Given the description of an element on the screen output the (x, y) to click on. 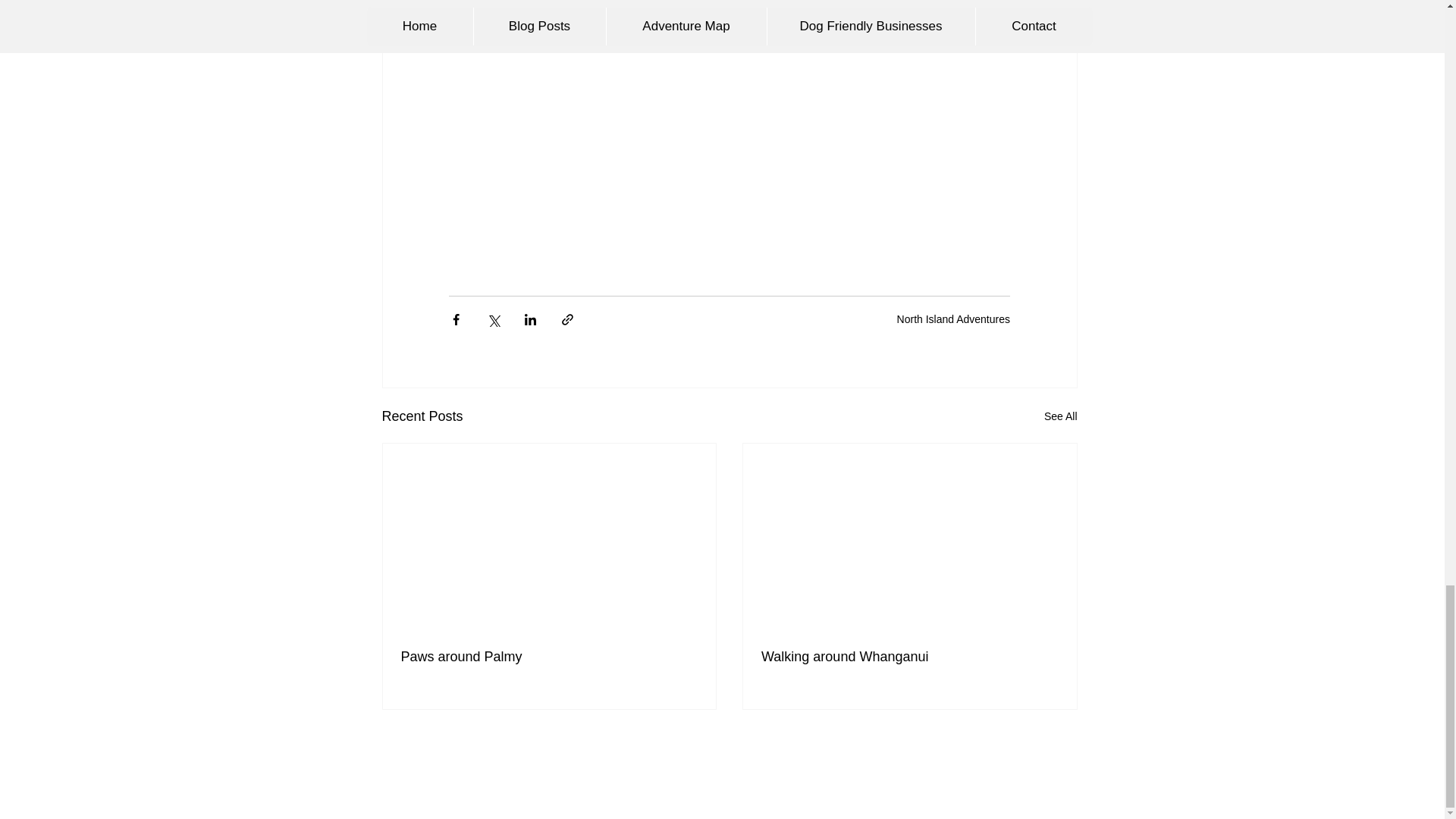
North Island Adventures (953, 318)
Paws around Palmy (548, 657)
See All (1060, 416)
Walking around Whanganui (909, 657)
